Given the description of an element on the screen output the (x, y) to click on. 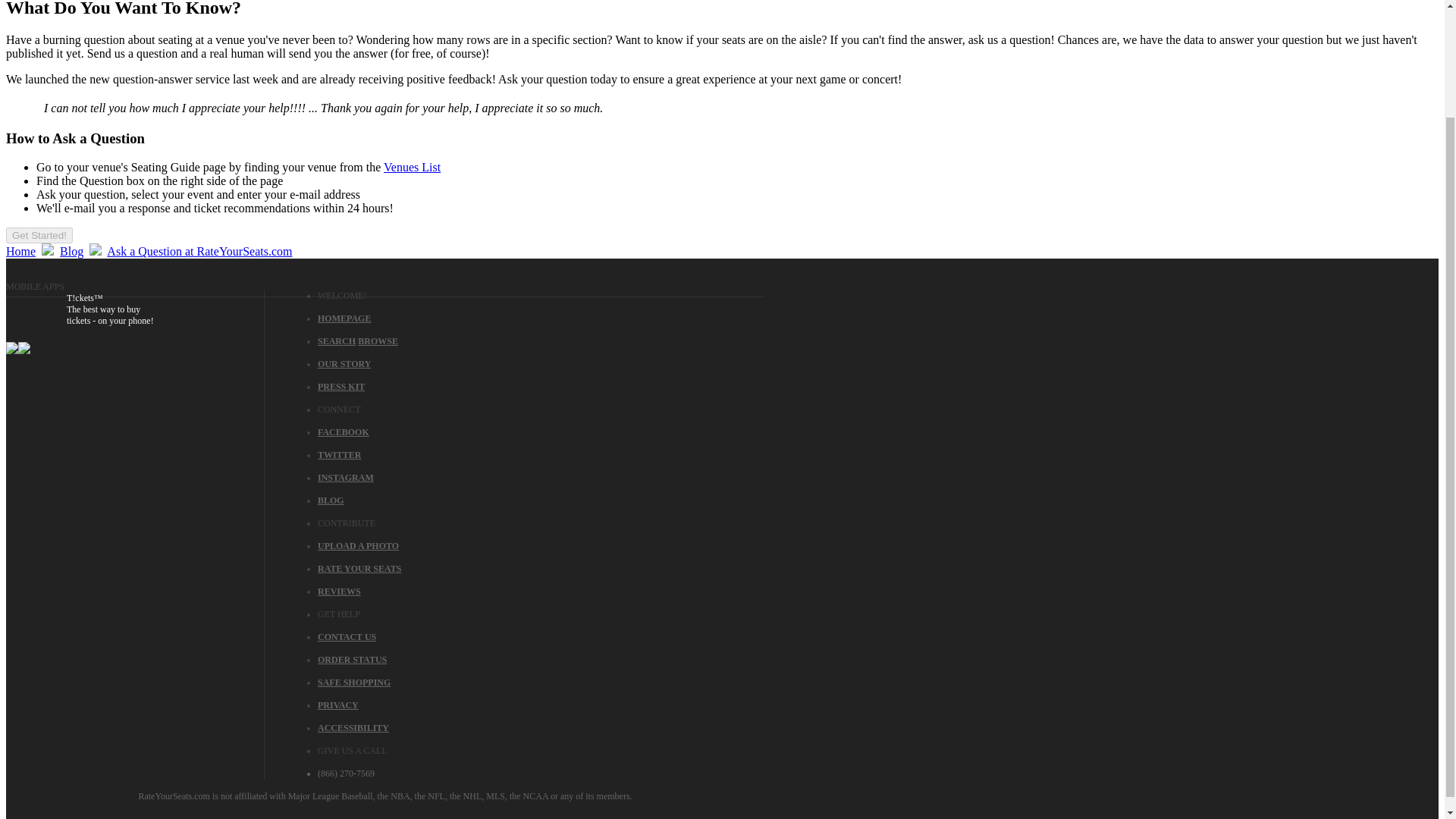
Get Started! (38, 234)
BLOG (330, 500)
RATE YOUR SEATS (359, 568)
PRIVACY (337, 705)
CONTACT US (346, 636)
BROWSE (377, 340)
ACCESSIBILITY (352, 727)
INSTAGRAM (345, 477)
ORDER STATUS (352, 659)
SAFE SHOPPING (353, 682)
